Given the description of an element on the screen output the (x, y) to click on. 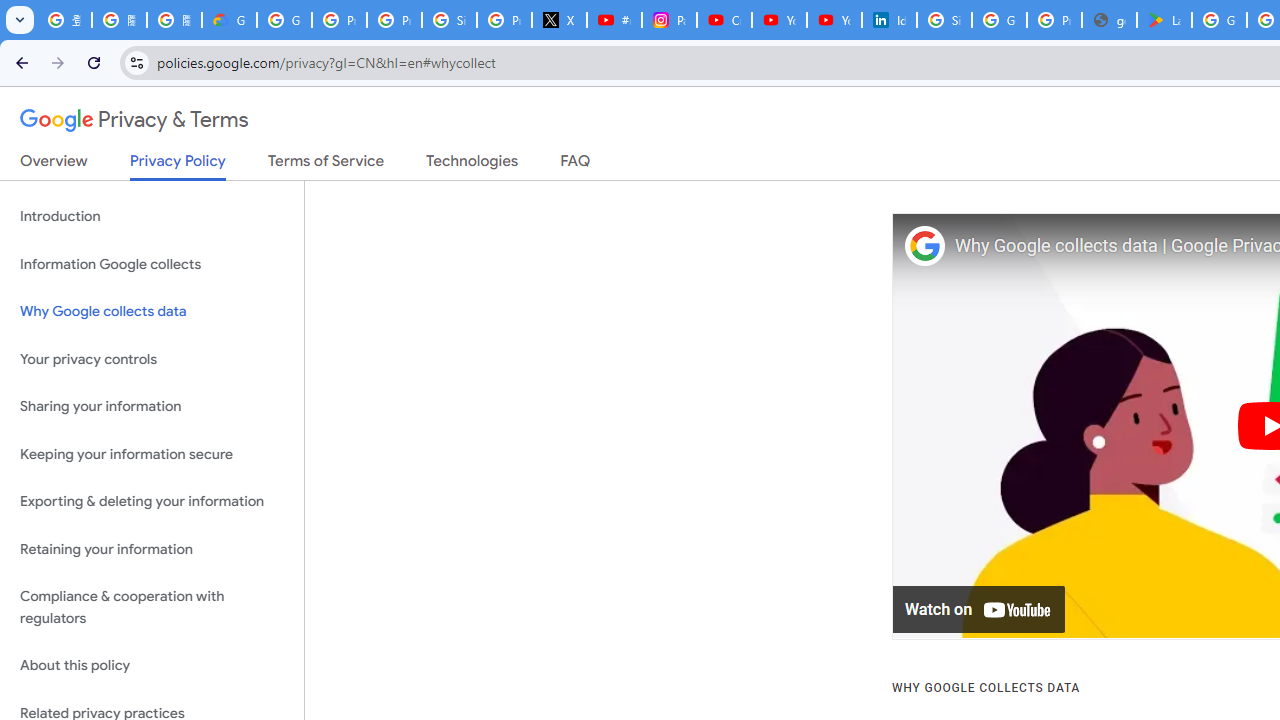
Why Google collects data (152, 312)
